Given the description of an element on the screen output the (x, y) to click on. 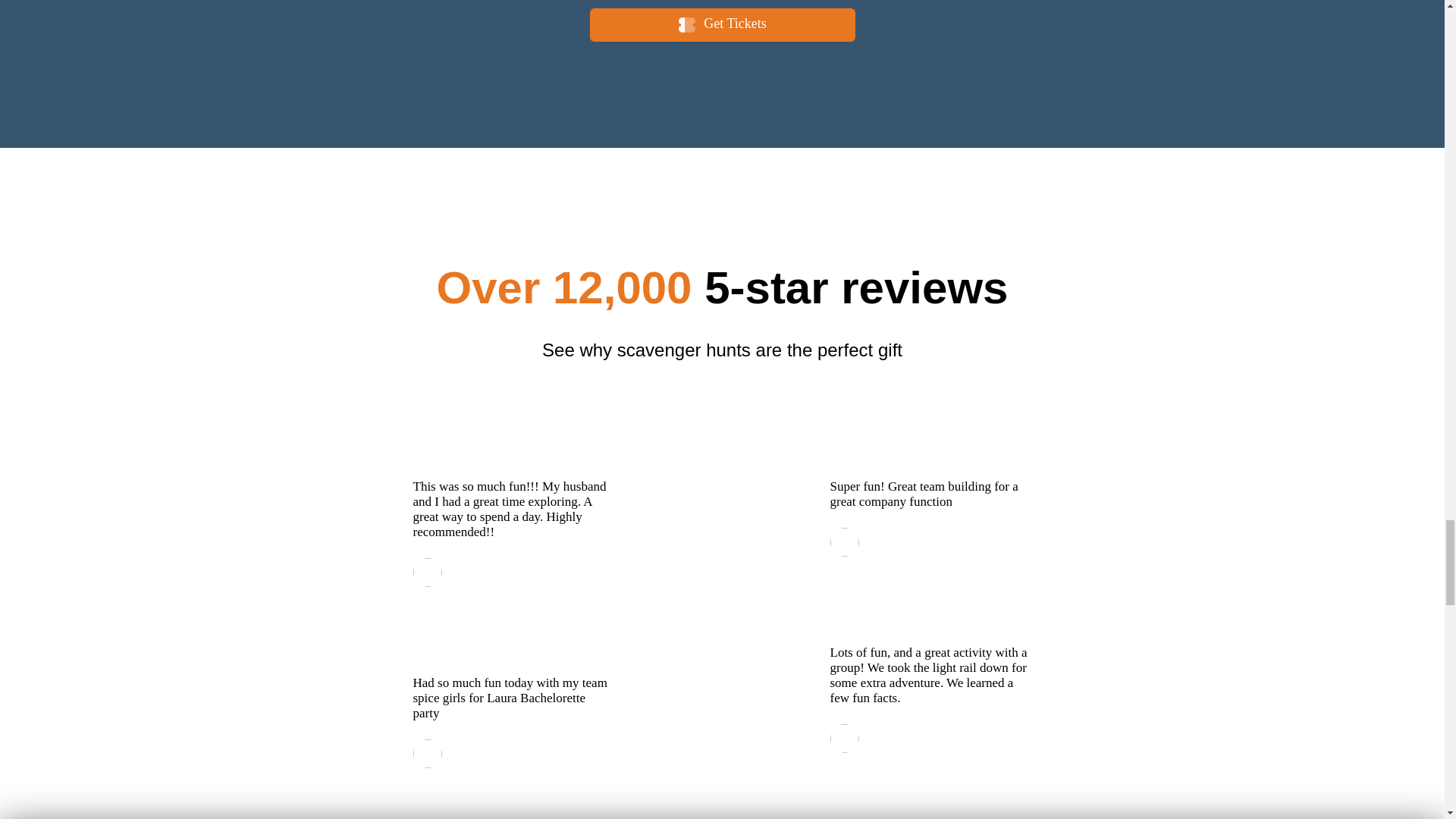
Get Tickets (722, 24)
